Given the description of an element on the screen output the (x, y) to click on. 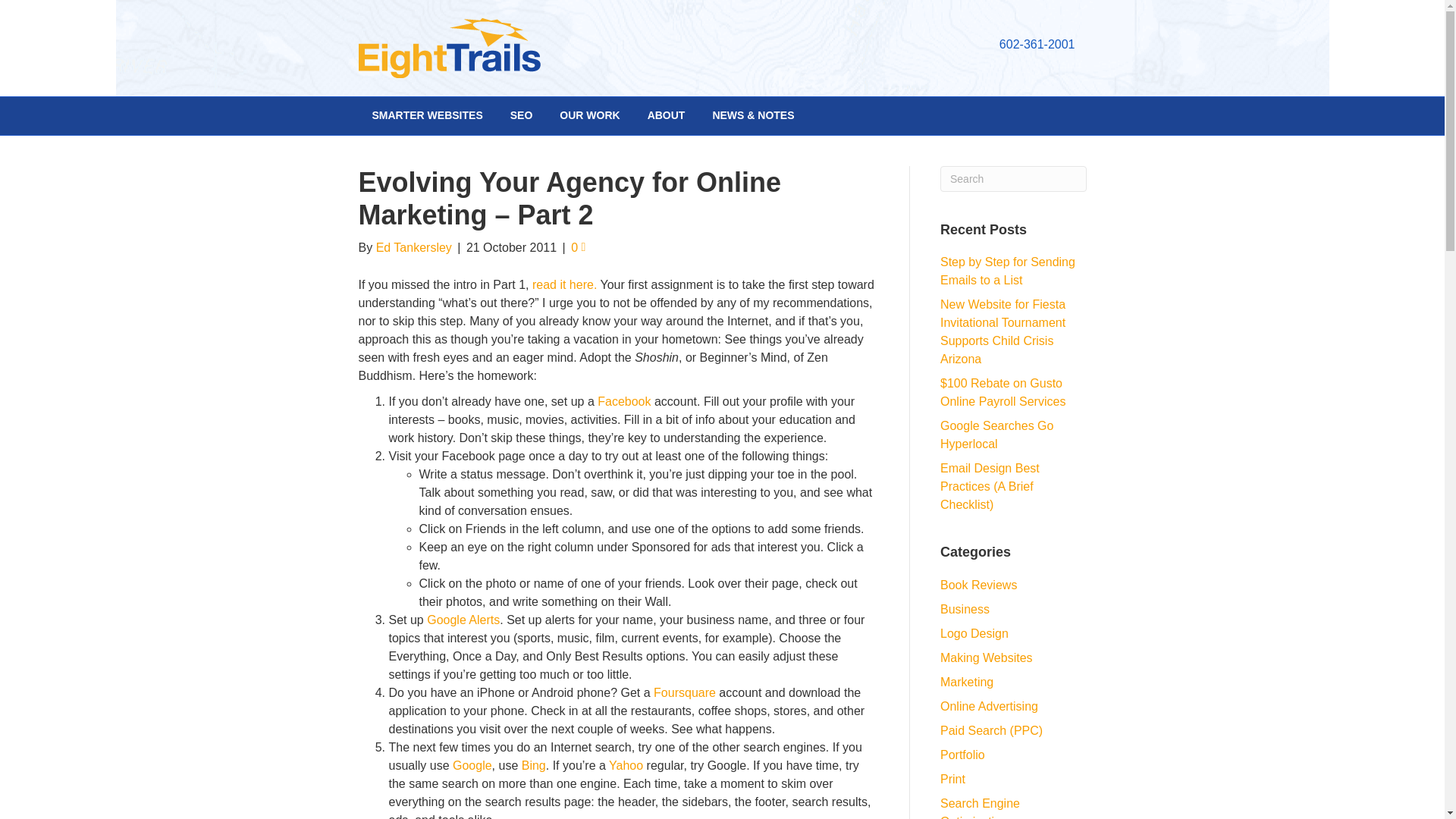
Google (472, 765)
Type and press Enter to search. (1013, 178)
602-361-2001 (1036, 43)
Facebook (623, 400)
0 (577, 246)
SMARTER WEBSITES (427, 116)
SEO (521, 116)
Google Searches Go Hyperlocal (996, 434)
Ed Tankersley (413, 246)
Bing (533, 765)
OUR WORK (589, 116)
Foursquare (684, 692)
Book Reviews (978, 584)
ABOUT (665, 116)
